Given the description of an element on the screen output the (x, y) to click on. 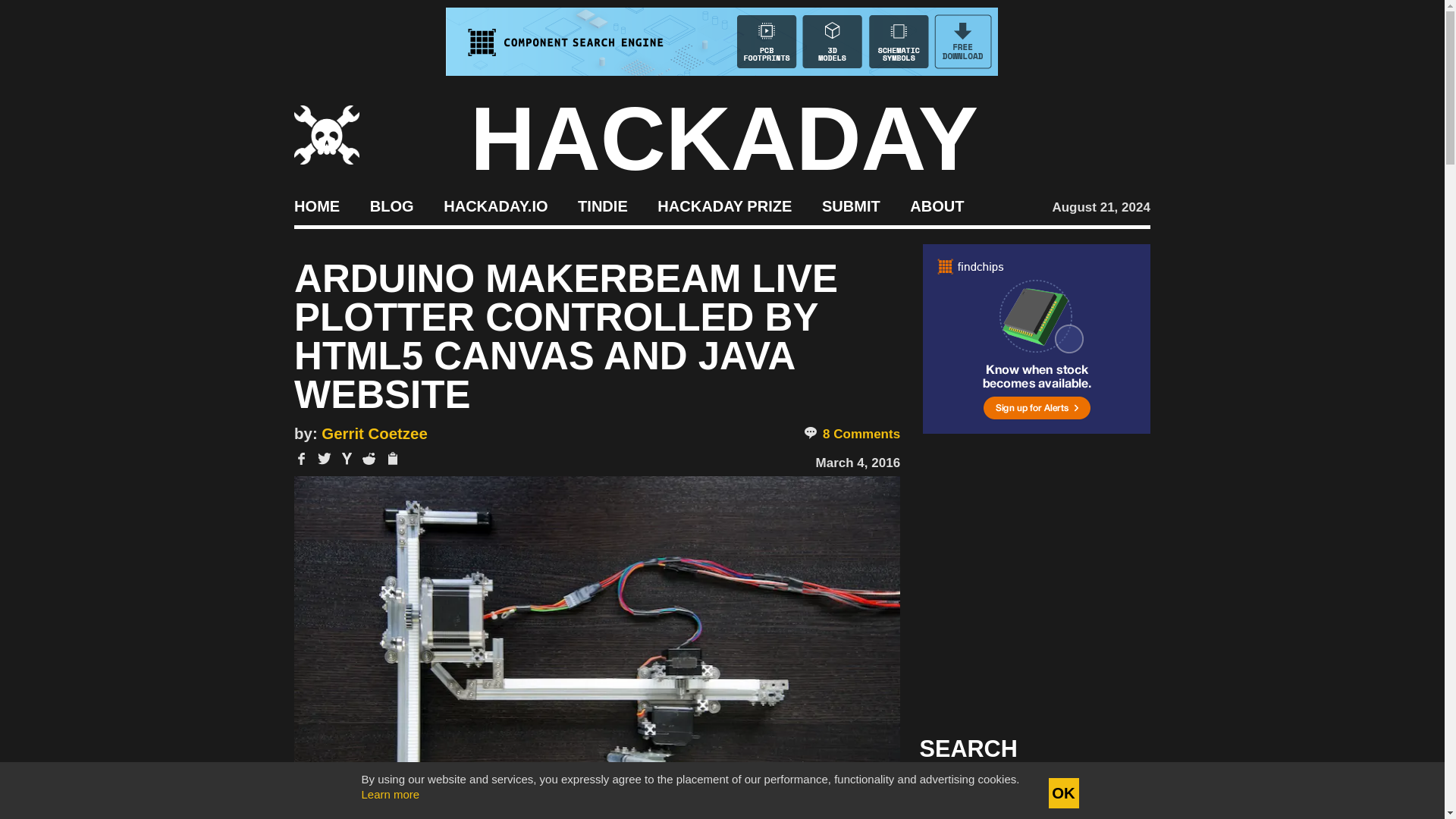
Build Something that Matters (725, 205)
SUBMIT (851, 205)
HACKADAY PRIZE (725, 205)
TINDIE (602, 205)
Copy title or shortlink (391, 459)
Share on Reddit (369, 459)
HOME (316, 205)
Search (1115, 792)
Posts by Gerrit Coetzee (373, 433)
8 Comments (851, 434)
